Given the description of an element on the screen output the (x, y) to click on. 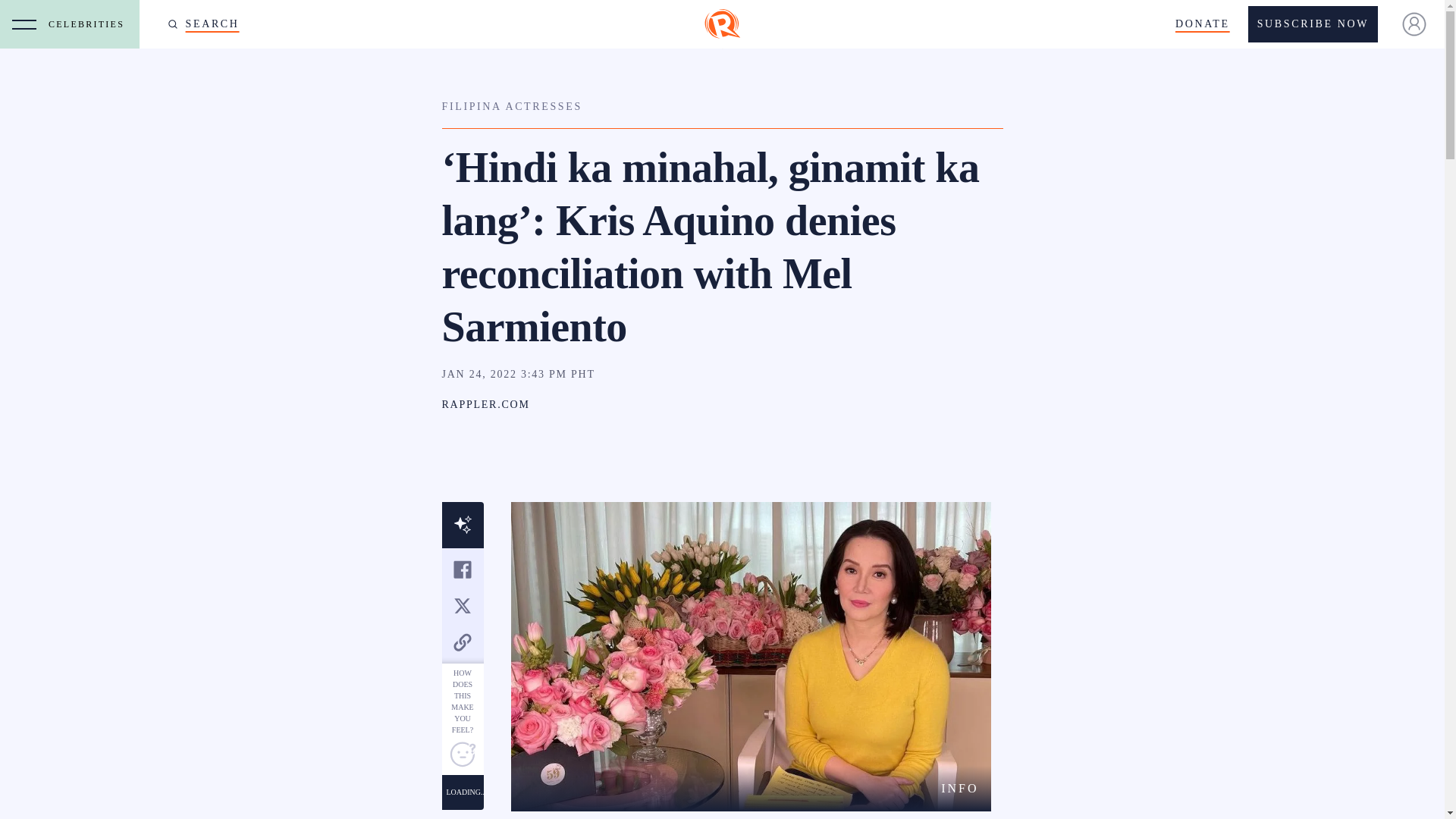
CELEBRITIES (90, 23)
OPEN NAVIGATION (24, 24)
